Given the description of an element on the screen output the (x, y) to click on. 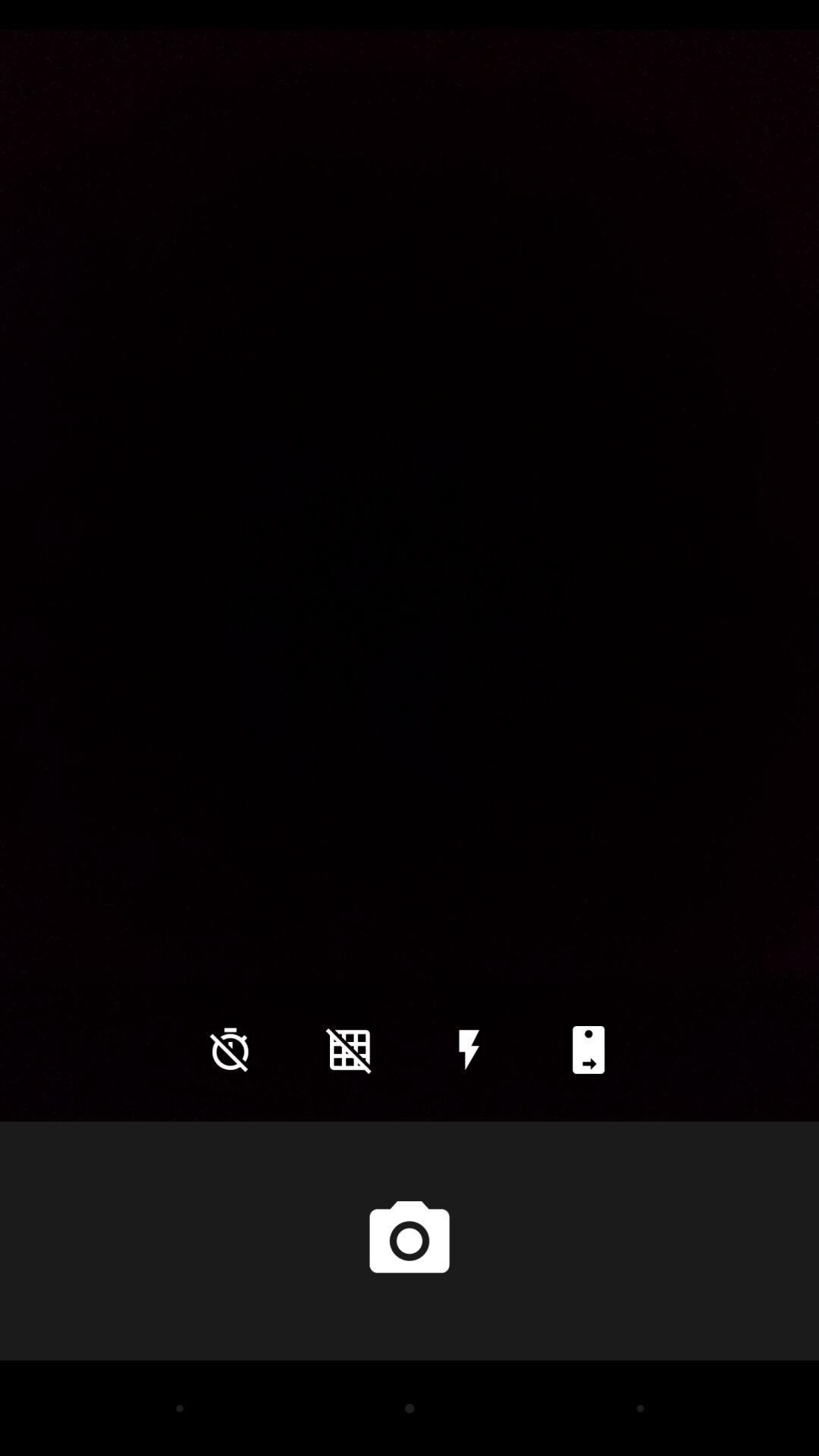
turn on icon at the bottom right corner (588, 1049)
